Given the description of an element on the screen output the (x, y) to click on. 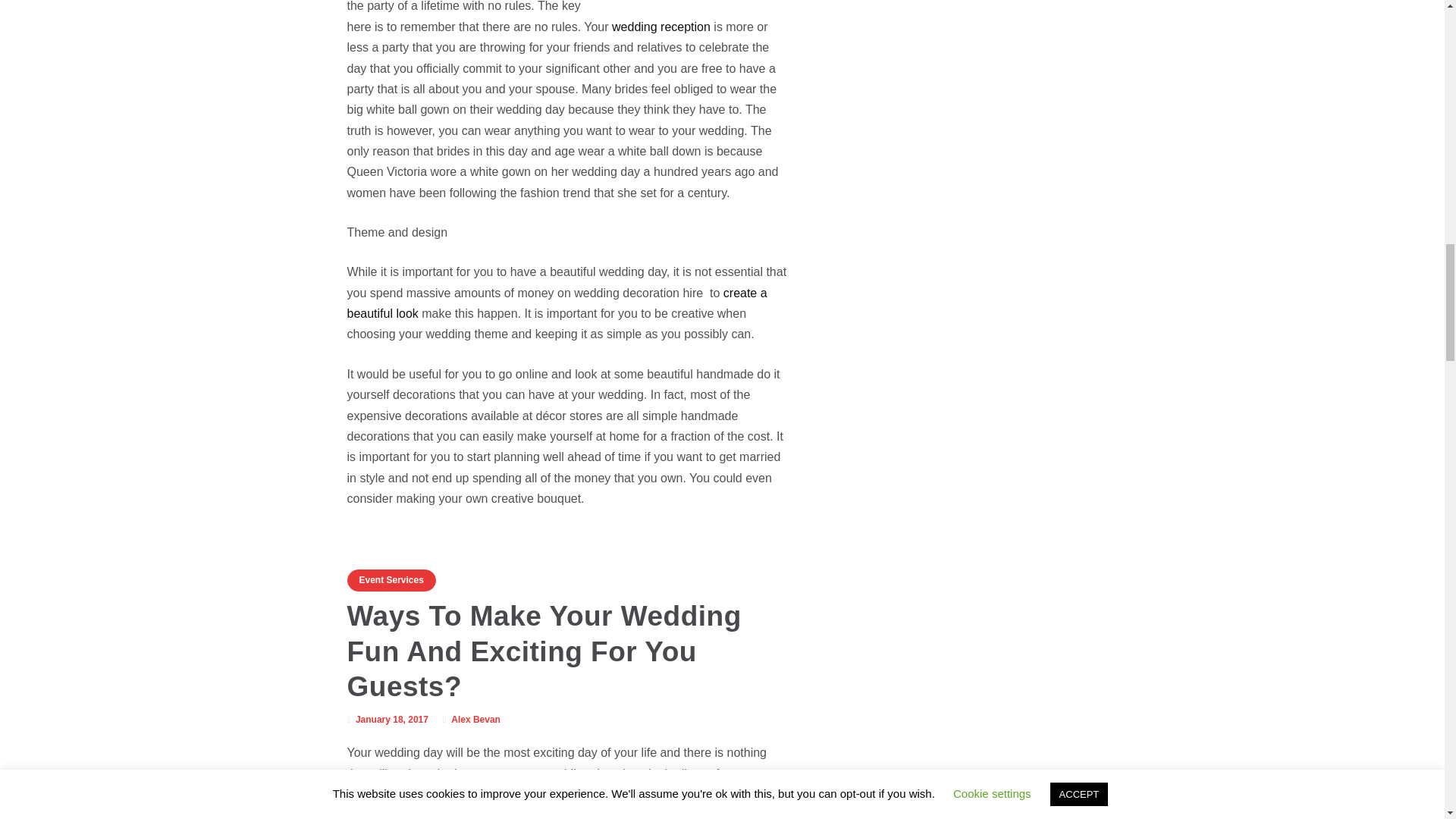
create a beautiful look (557, 303)
wedding reception (660, 26)
Ways To Make Your Wedding Fun And Exciting For You Guests? (544, 650)
Event Services (391, 580)
